Given the description of an element on the screen output the (x, y) to click on. 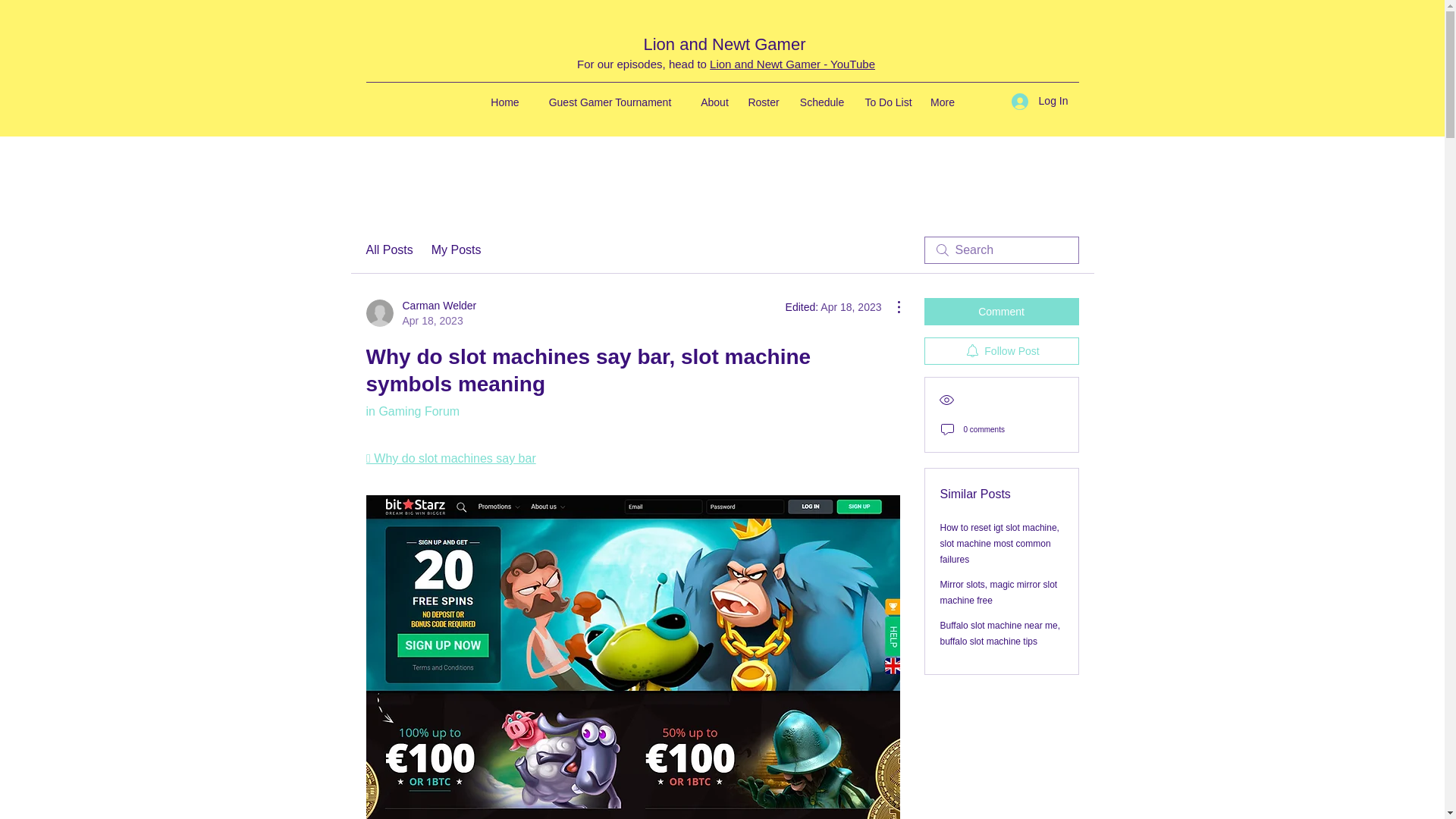
Roster (763, 101)
Follow Post (1000, 350)
Buffalo slot machine near me, buffalo slot machine tips (1000, 633)
Schedule (822, 101)
Lion and Newt Gamer (724, 44)
in Gaming Forum (420, 313)
Home (412, 410)
Mirror slots, magic mirror slot machine free (504, 101)
